Given the description of an element on the screen output the (x, y) to click on. 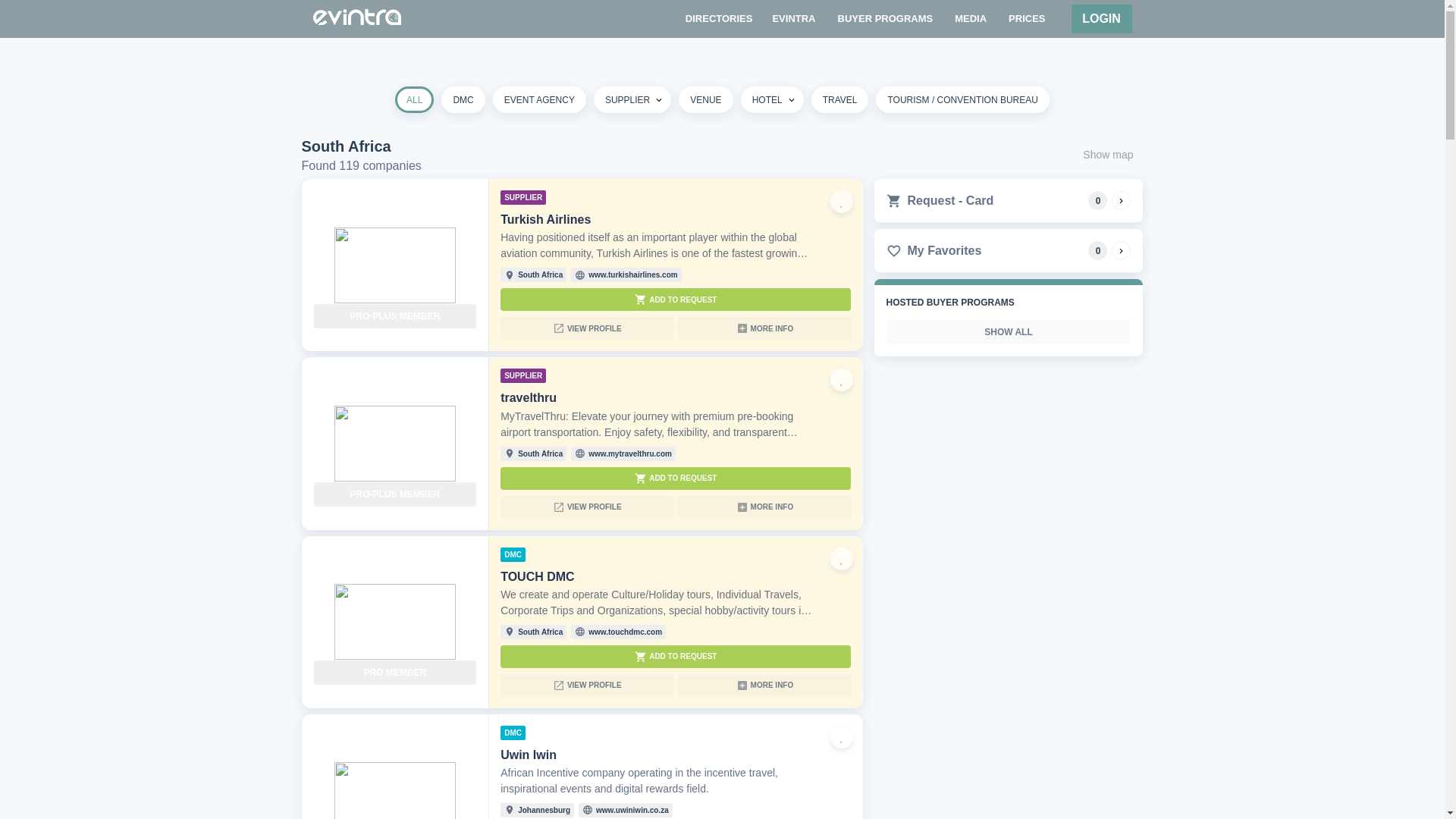
Hosted Buyer Programs and Fam Trips (884, 18)
MORE INFO (764, 327)
www.turkishairlines.com (632, 274)
BUYER PROGRAMS (884, 18)
MEDIA (970, 18)
VIEW PROFILE (586, 327)
www.mytravelthru.com (629, 453)
MORE INFO (764, 507)
PRICES (1026, 18)
